Given the description of an element on the screen output the (x, y) to click on. 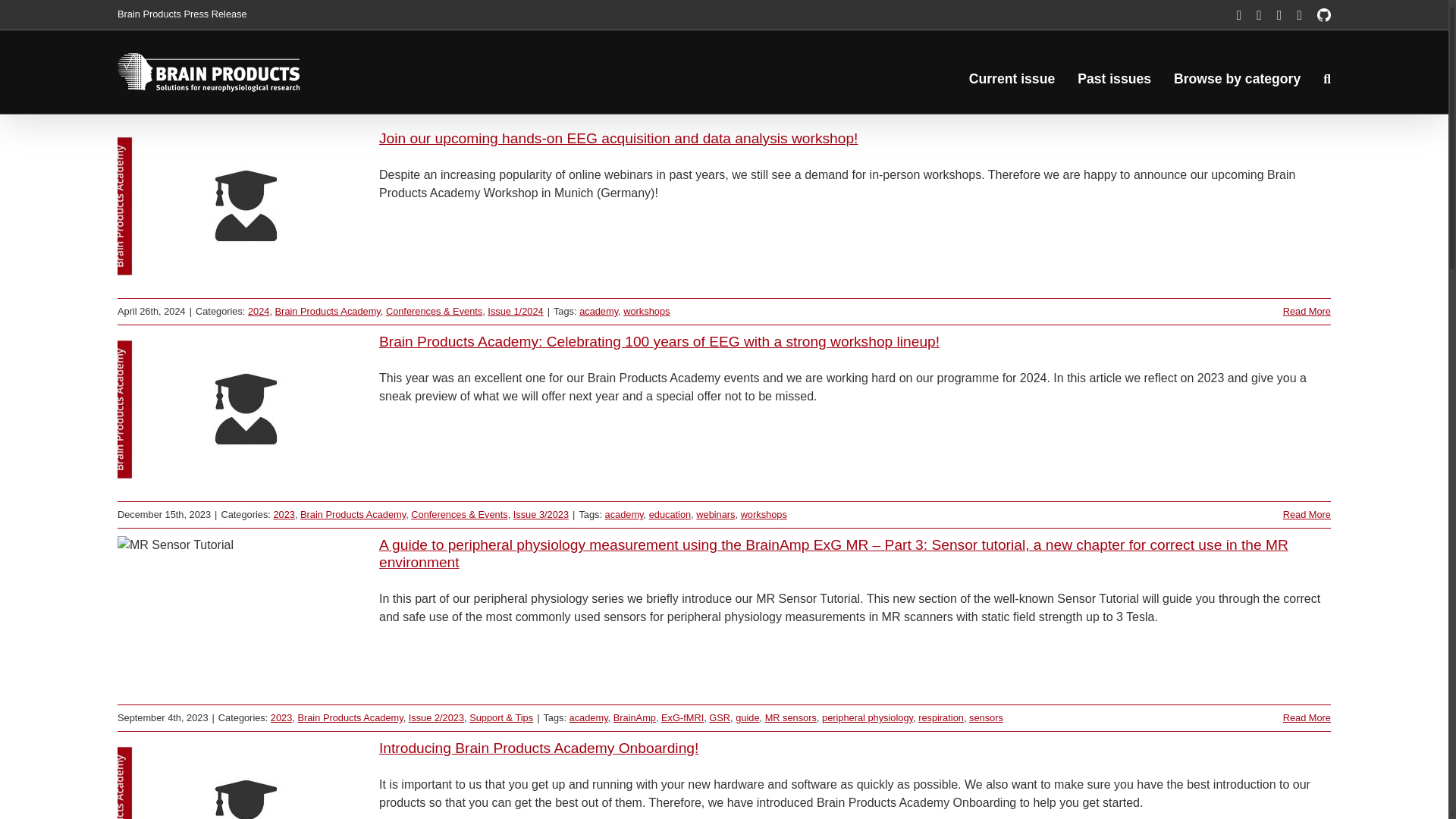
GitHub (1323, 15)
Current issue (1011, 79)
GitHub (1323, 15)
Past issues (1114, 79)
